Given the description of an element on the screen output the (x, y) to click on. 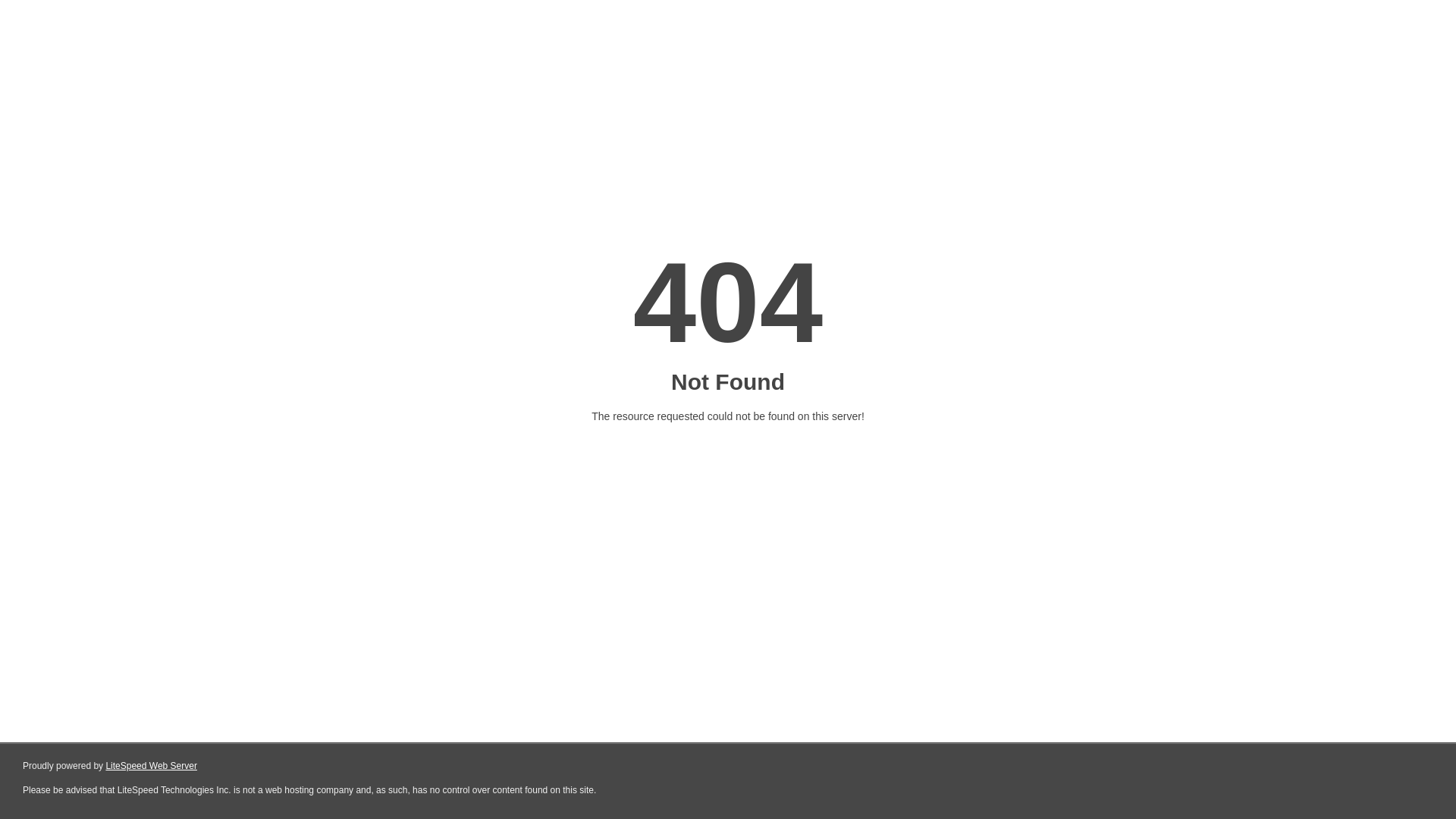
LiteSpeed Web Server Element type: text (151, 765)
